Given the description of an element on the screen output the (x, y) to click on. 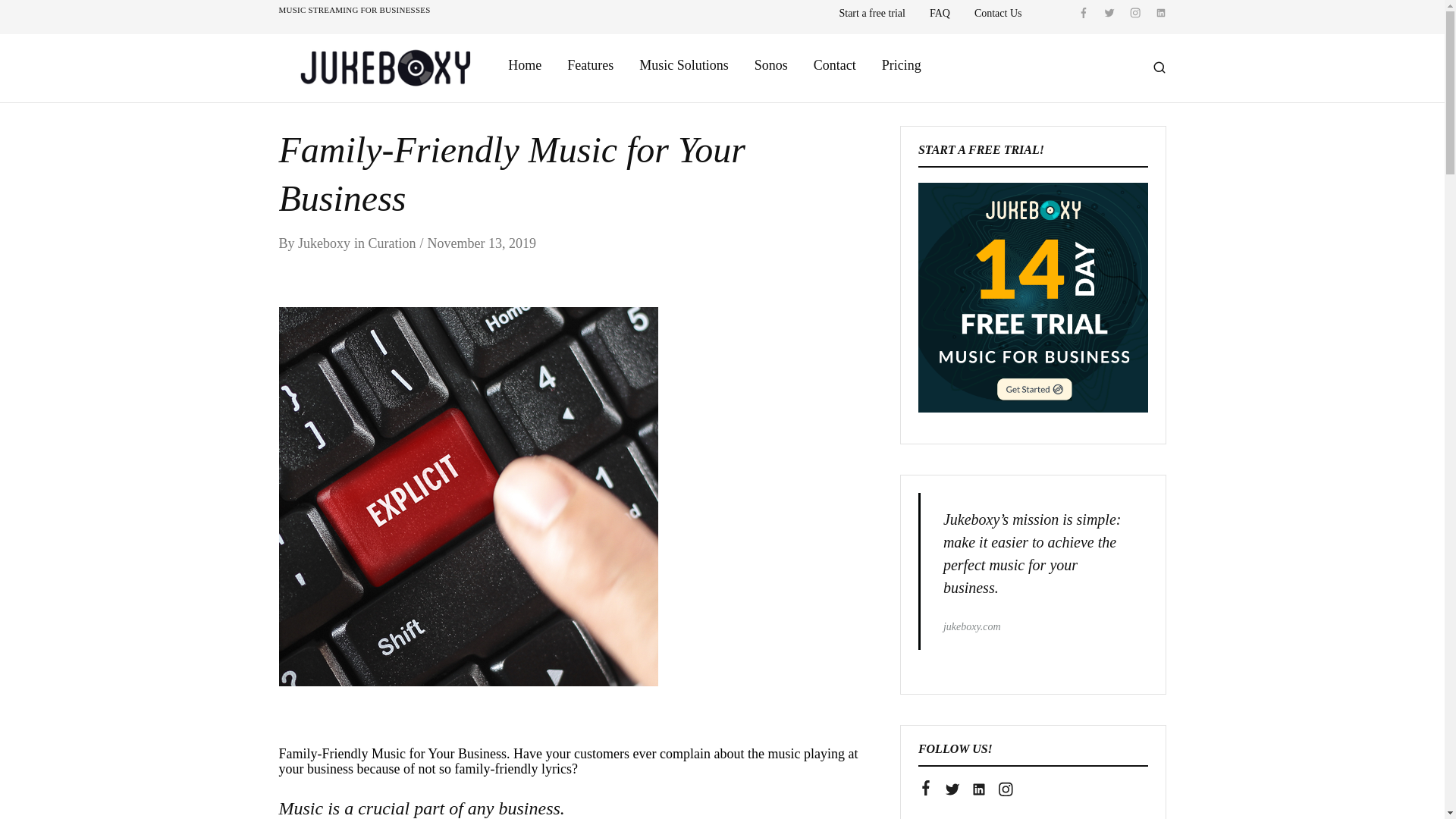
Curation (392, 242)
Home (524, 65)
Linkedin (978, 790)
Music Solutions (683, 65)
Contact Us (997, 13)
Jukeboxy (324, 242)
FAQ (940, 13)
Start a free trial (871, 13)
Instagram (1004, 790)
Facebook (925, 788)
